Given the description of an element on the screen output the (x, y) to click on. 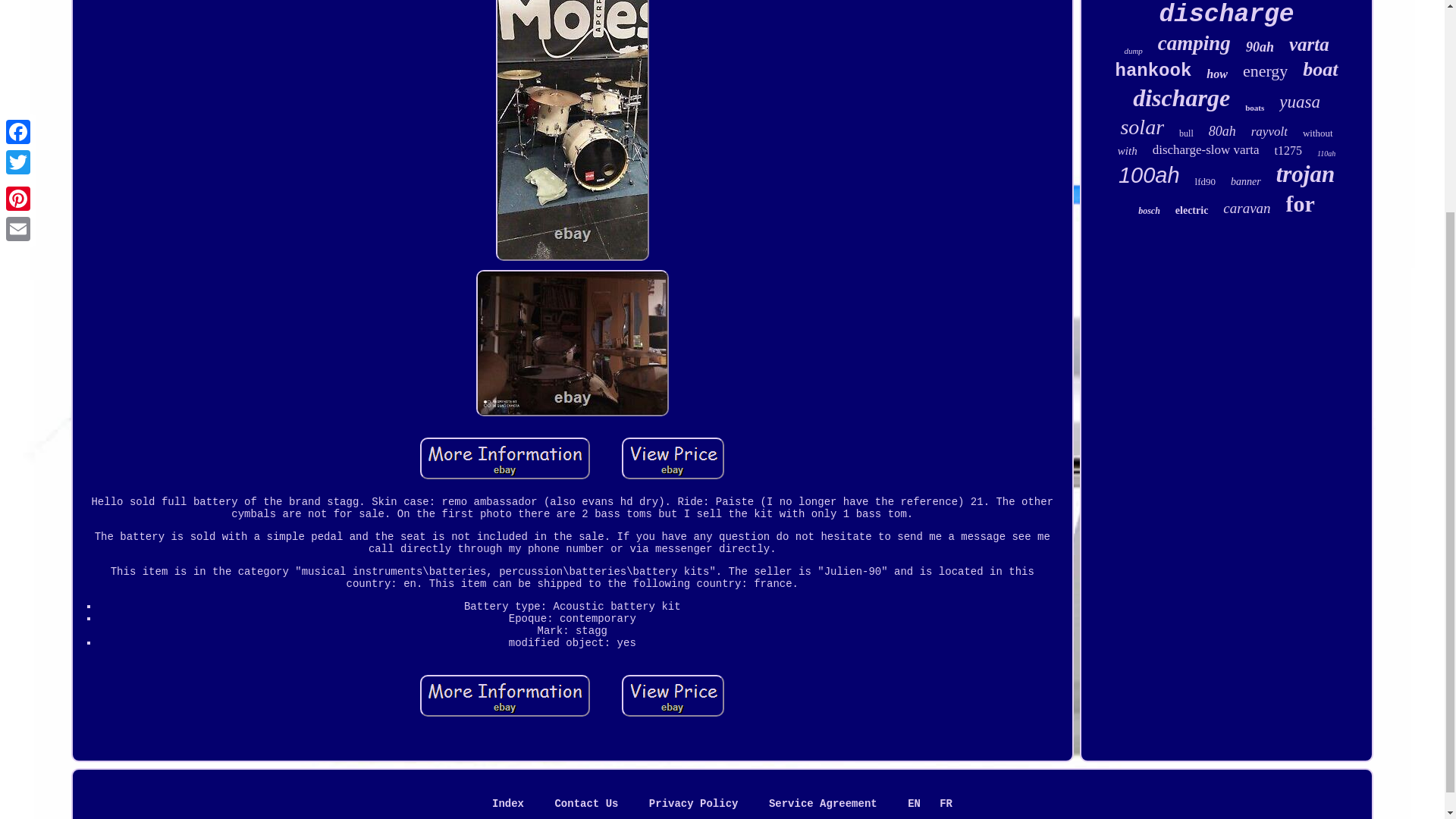
Stagg Tim322 Battery (672, 695)
Stagg Tim322 Battery (504, 695)
Stagg Tim322 Battery (504, 458)
Stagg Tim322 Battery (572, 343)
Stagg Tim322 Battery (672, 458)
